Given the description of an element on the screen output the (x, y) to click on. 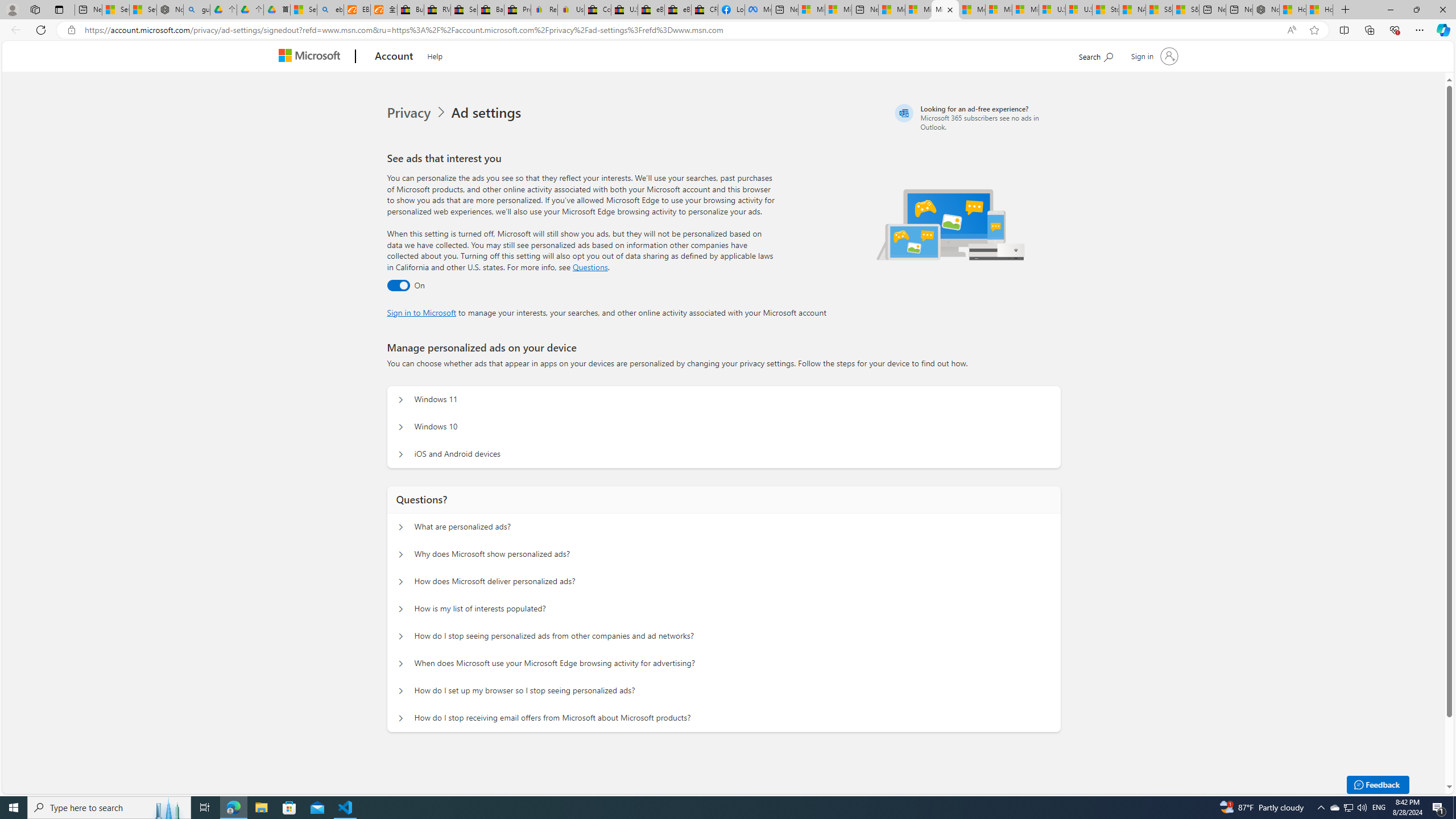
Questions? How does Microsoft deliver personalized ads? (401, 581)
Manage personalized ads on your device Windows 11 (401, 400)
Ad settings (488, 112)
Meta Store (757, 9)
U.S. State Privacy Disclosures - eBay Inc. (623, 9)
Sign in to your account (1153, 55)
